Given the description of an element on the screen output the (x, y) to click on. 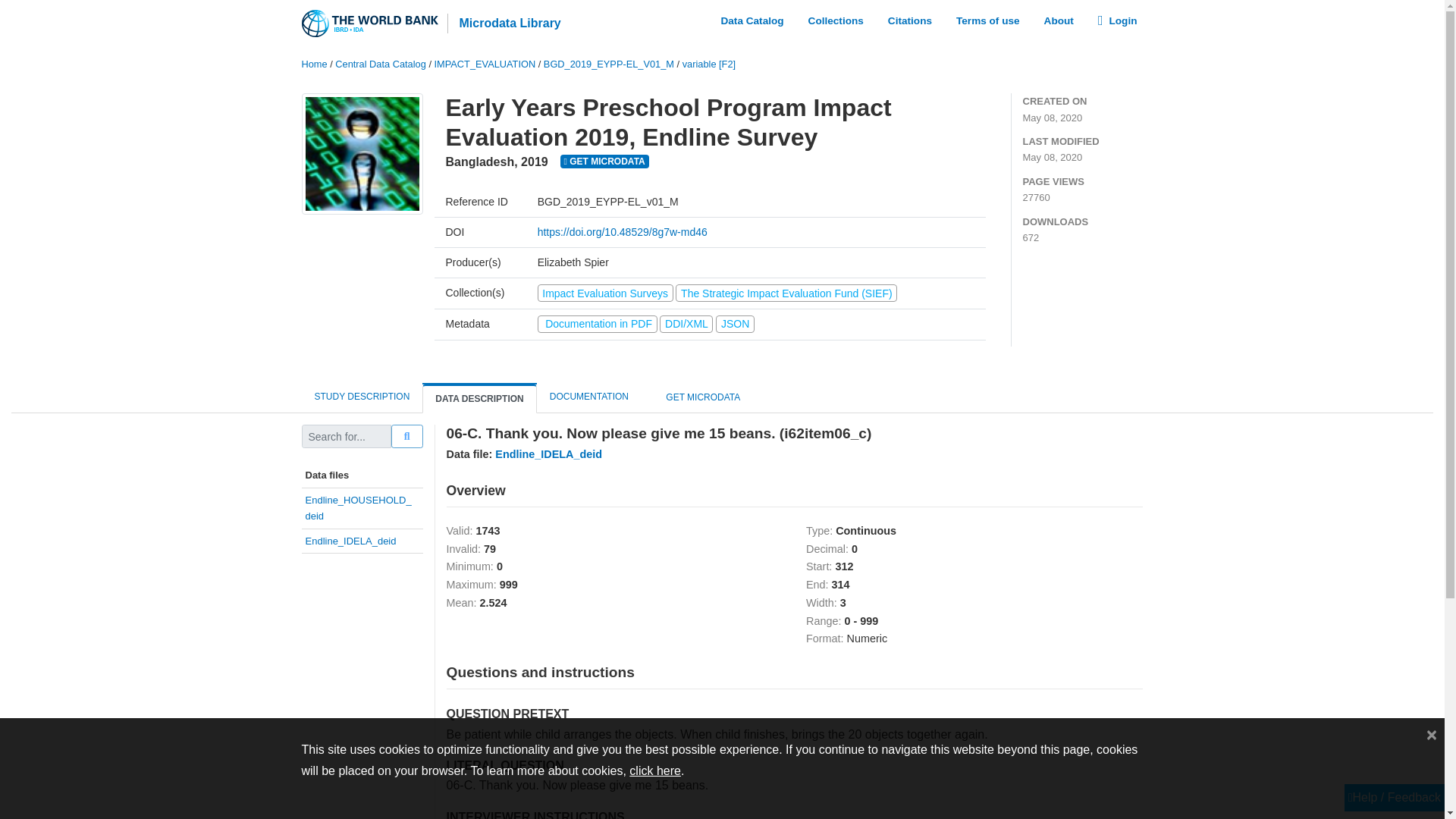
Collections (835, 20)
click here (654, 770)
Documentation in PDF (599, 323)
Central Data Catalog (380, 63)
Terms of use (988, 20)
Microdata Library (503, 23)
Impact Evaluation Surveys (607, 293)
GET MICRODATA (604, 161)
STUDY DESCRIPTION (362, 397)
Citations (909, 20)
